Given the description of an element on the screen output the (x, y) to click on. 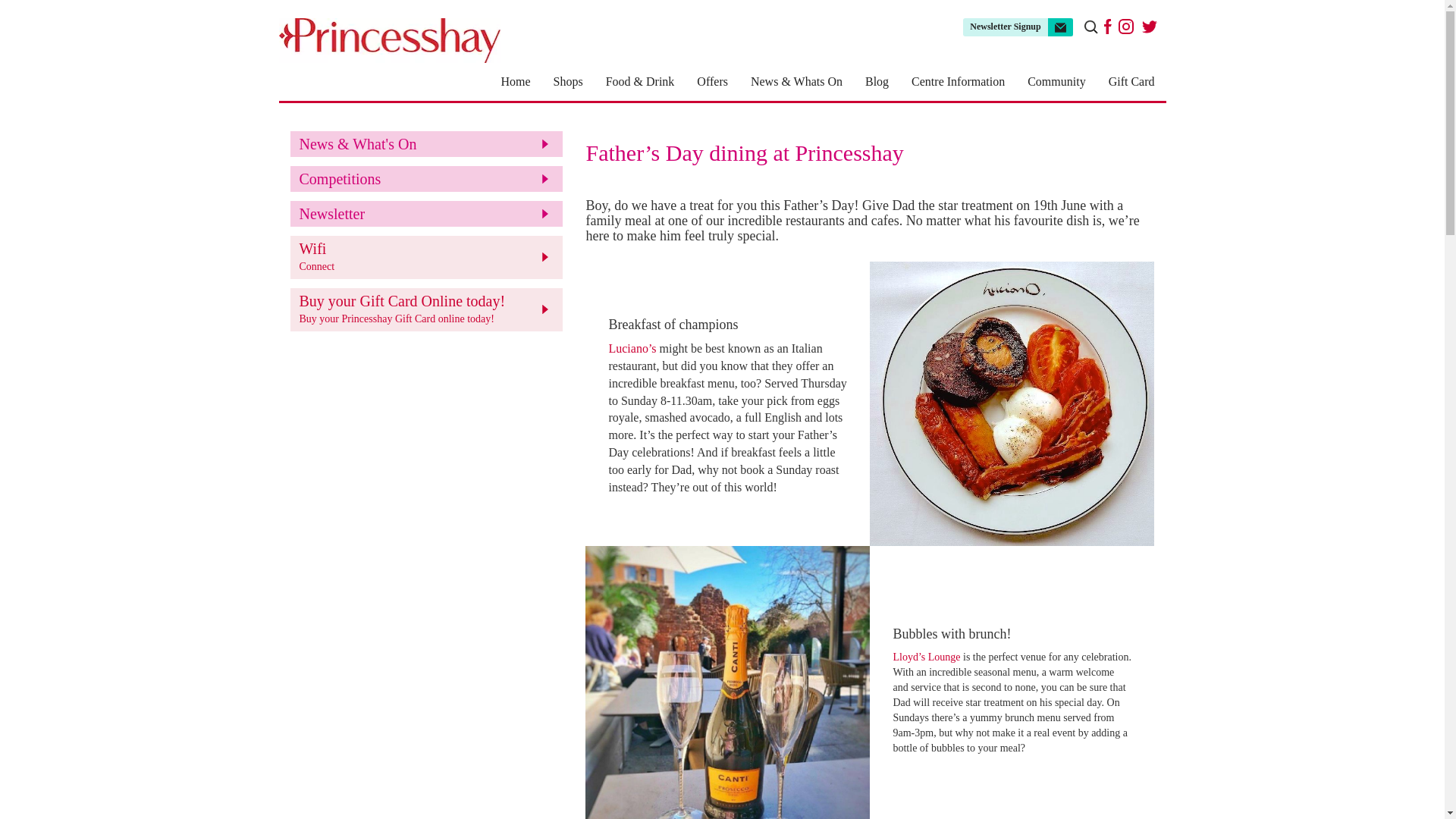
Shopping Centre (389, 40)
Community (1056, 81)
Newsletter Signup (1016, 27)
Shops (567, 81)
Gift Card (1131, 81)
Search efter: (1090, 27)
Home (515, 81)
Offers (712, 81)
Blog (876, 81)
Search (22, 9)
Centre Information (957, 81)
